Given the description of an element on the screen output the (x, y) to click on. 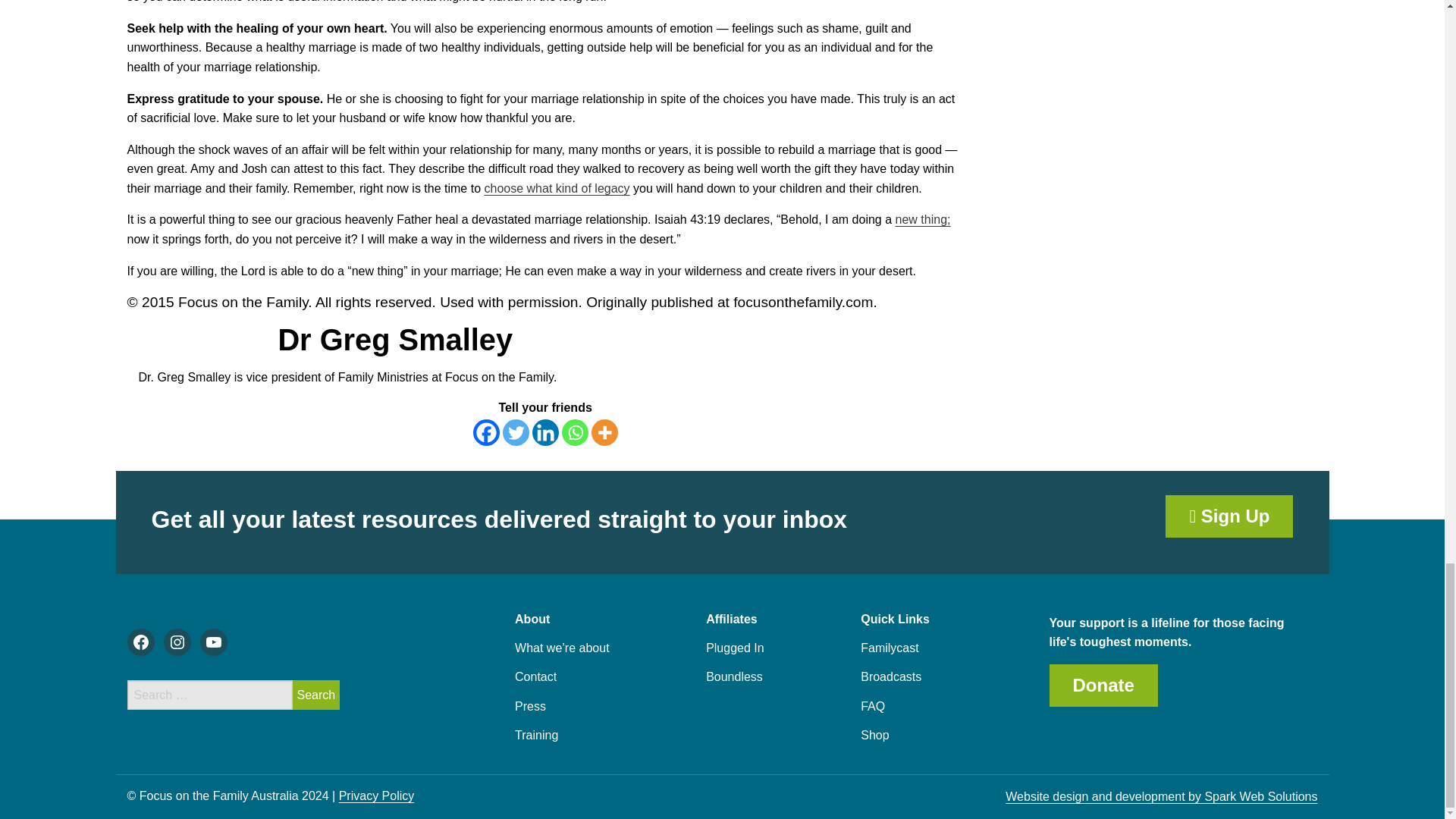
Search (316, 695)
Linkedin (545, 432)
Facebook (486, 432)
Search (316, 695)
Whatsapp (575, 432)
More (604, 432)
Twitter (515, 432)
